Given the description of an element on the screen output the (x, y) to click on. 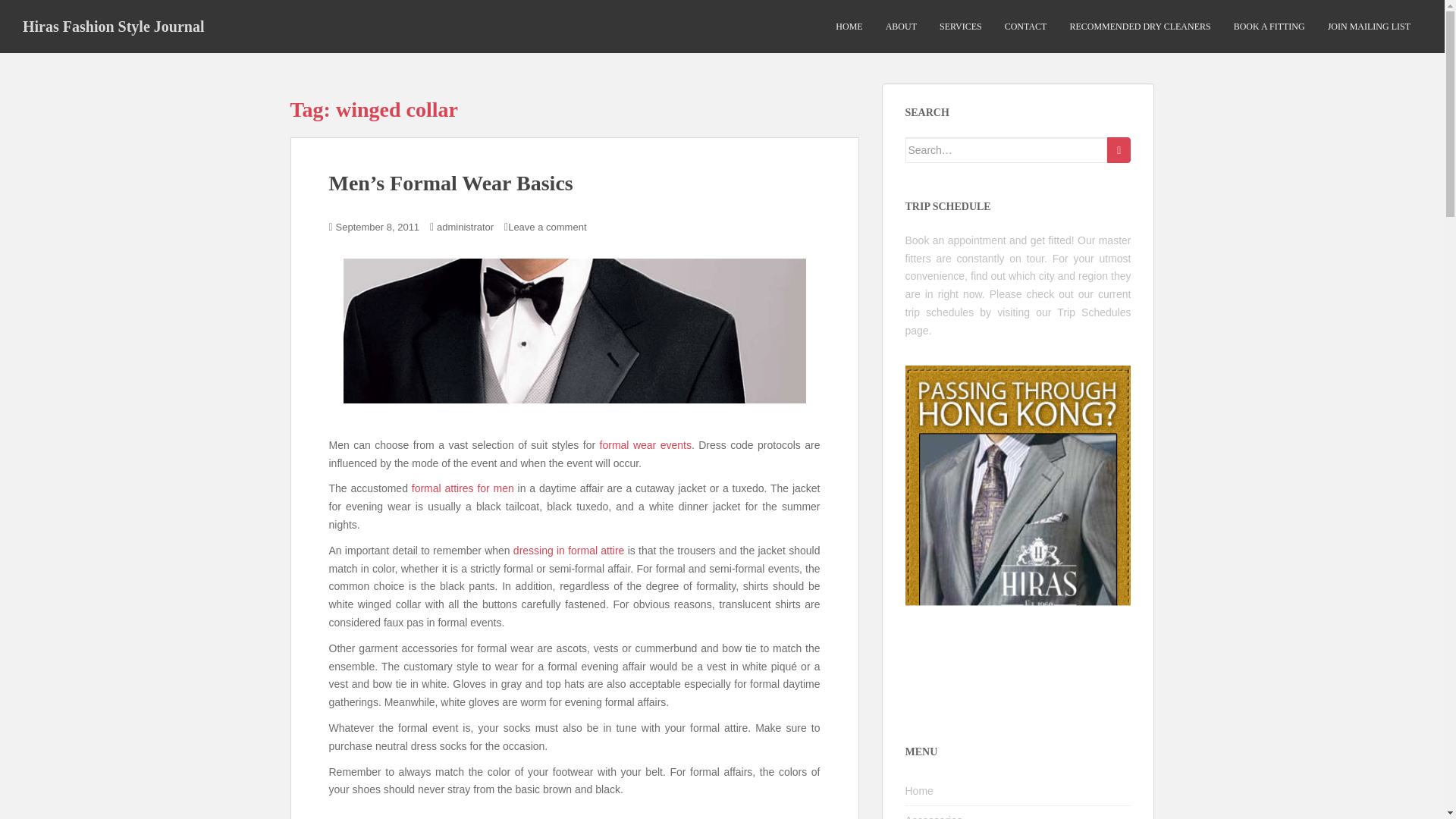
Hiras Fashion Style Journal (113, 26)
formal attires for men (462, 488)
SERVICES (960, 26)
dressing in formal attire (568, 550)
ABOUT (901, 26)
RECOMMENDED DRY CLEANERS (1138, 26)
BOOK A FITTING (1268, 26)
Accessories (1018, 812)
Men's Formal Wear Basics (573, 330)
CONTACT (1025, 26)
